Given the description of an element on the screen output the (x, y) to click on. 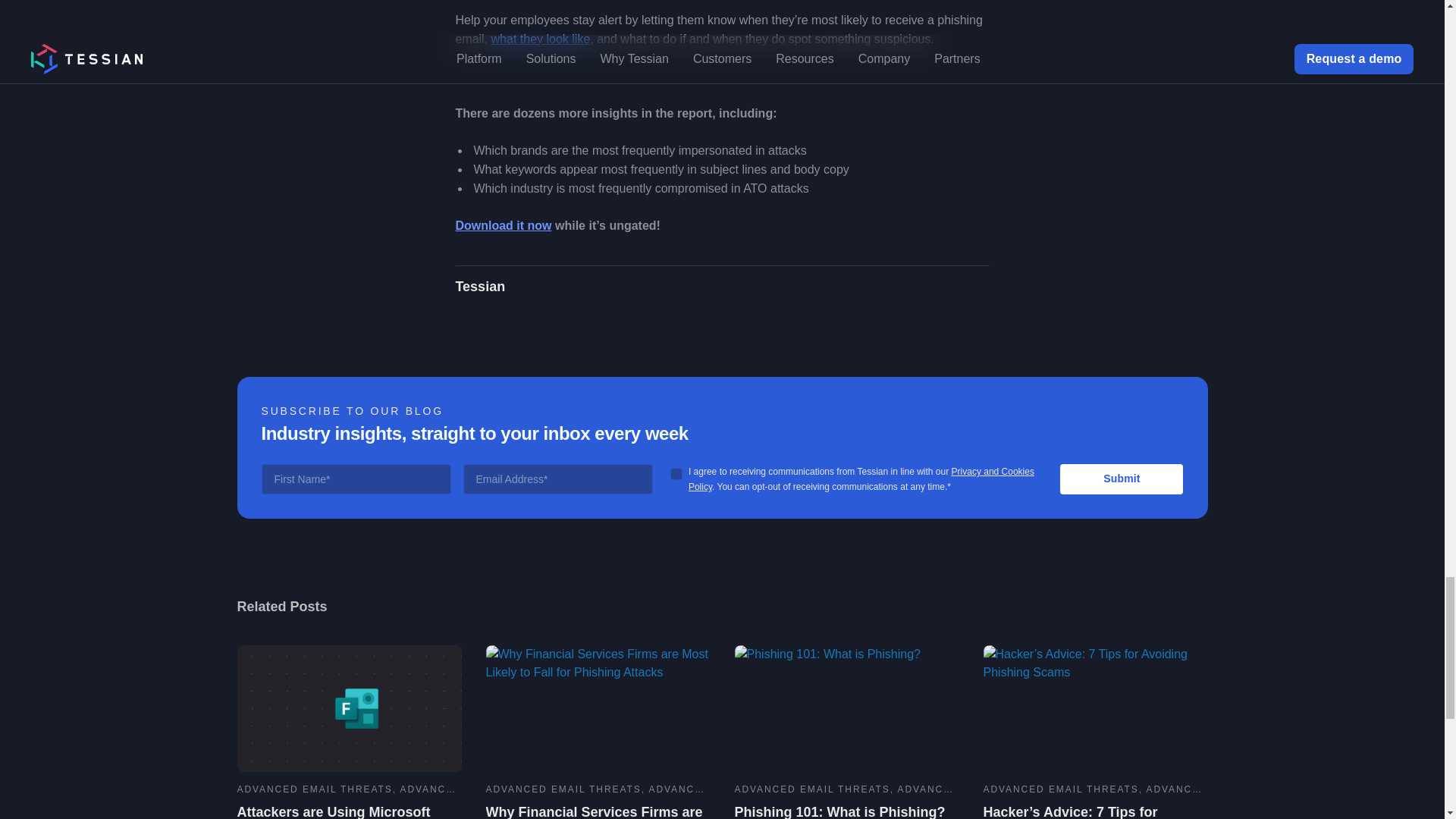
Submit (1120, 479)
